Given the description of an element on the screen output the (x, y) to click on. 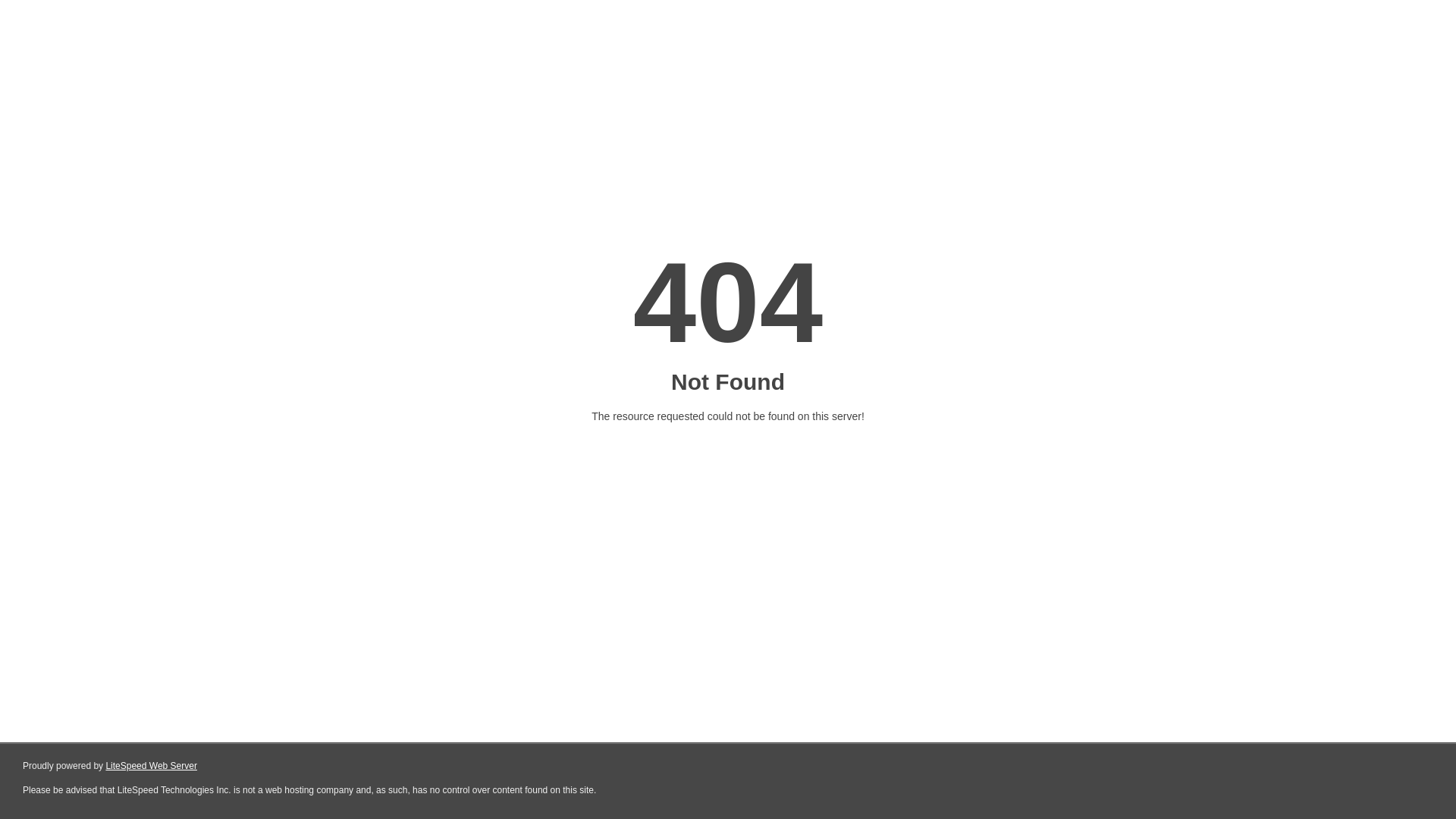
LiteSpeed Web Server Element type: text (151, 765)
